Given the description of an element on the screen output the (x, y) to click on. 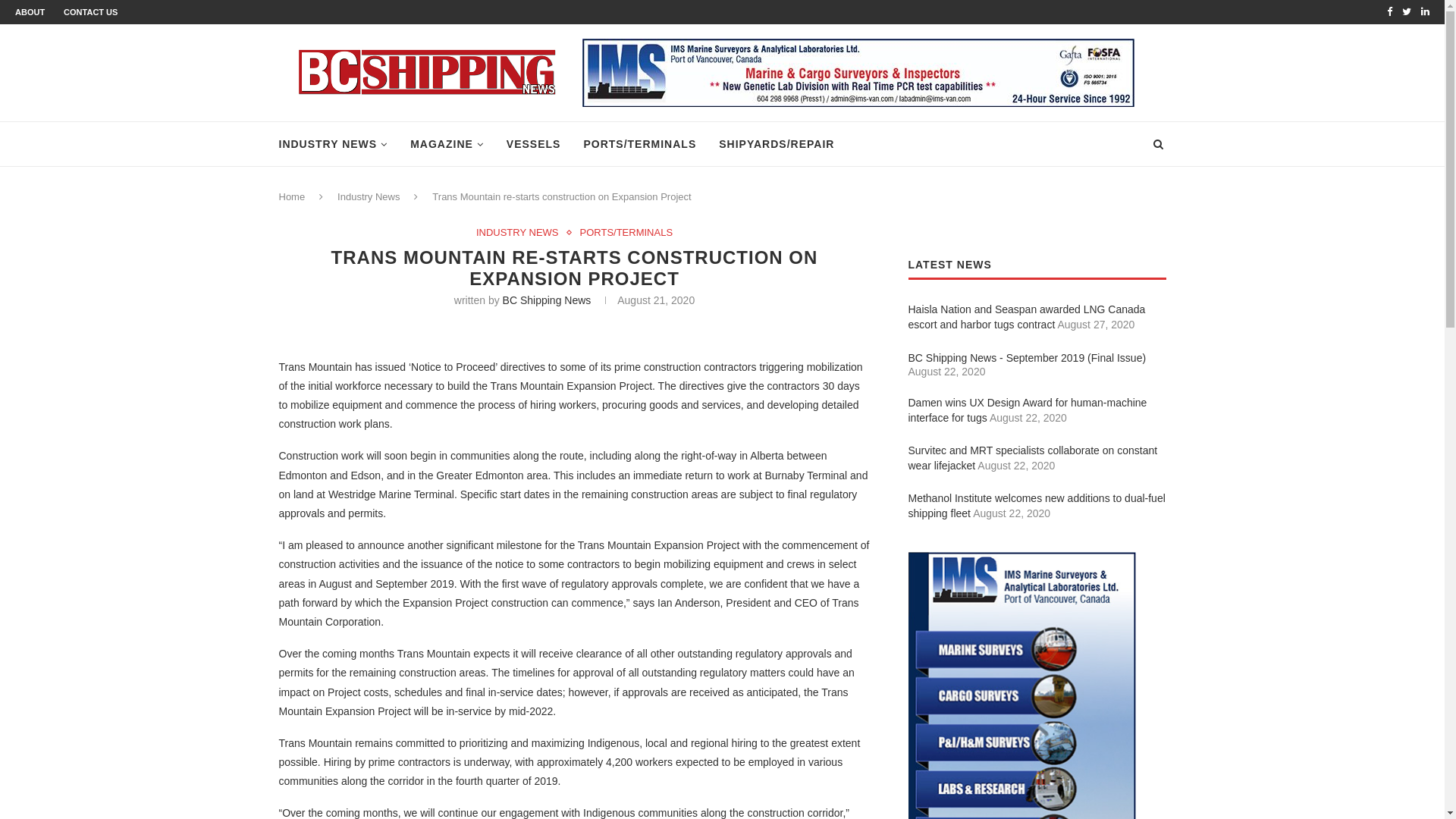
INDUSTRY NEWS Element type: text (521, 232)
CONTACT US Element type: text (90, 11)
PORTS/TERMINALS Element type: text (639, 144)
Industry News Element type: text (368, 196)
WestridgeMarineTerminal Element type: hover (573, 327)
Home Element type: text (292, 196)
BC Shipping News - September 2019 (Final Issue) Element type: text (1027, 357)
BC Shipping News Element type: text (546, 300)
SHIPYARDS/REPAIR Element type: text (776, 144)
PORTS/TERMINALS Element type: text (625, 232)
ABOUT Element type: text (29, 11)
MAGAZINE Element type: text (446, 144)
VESSELS Element type: text (533, 144)
INDUSTRY NEWS Element type: text (333, 144)
